Given the description of an element on the screen output the (x, y) to click on. 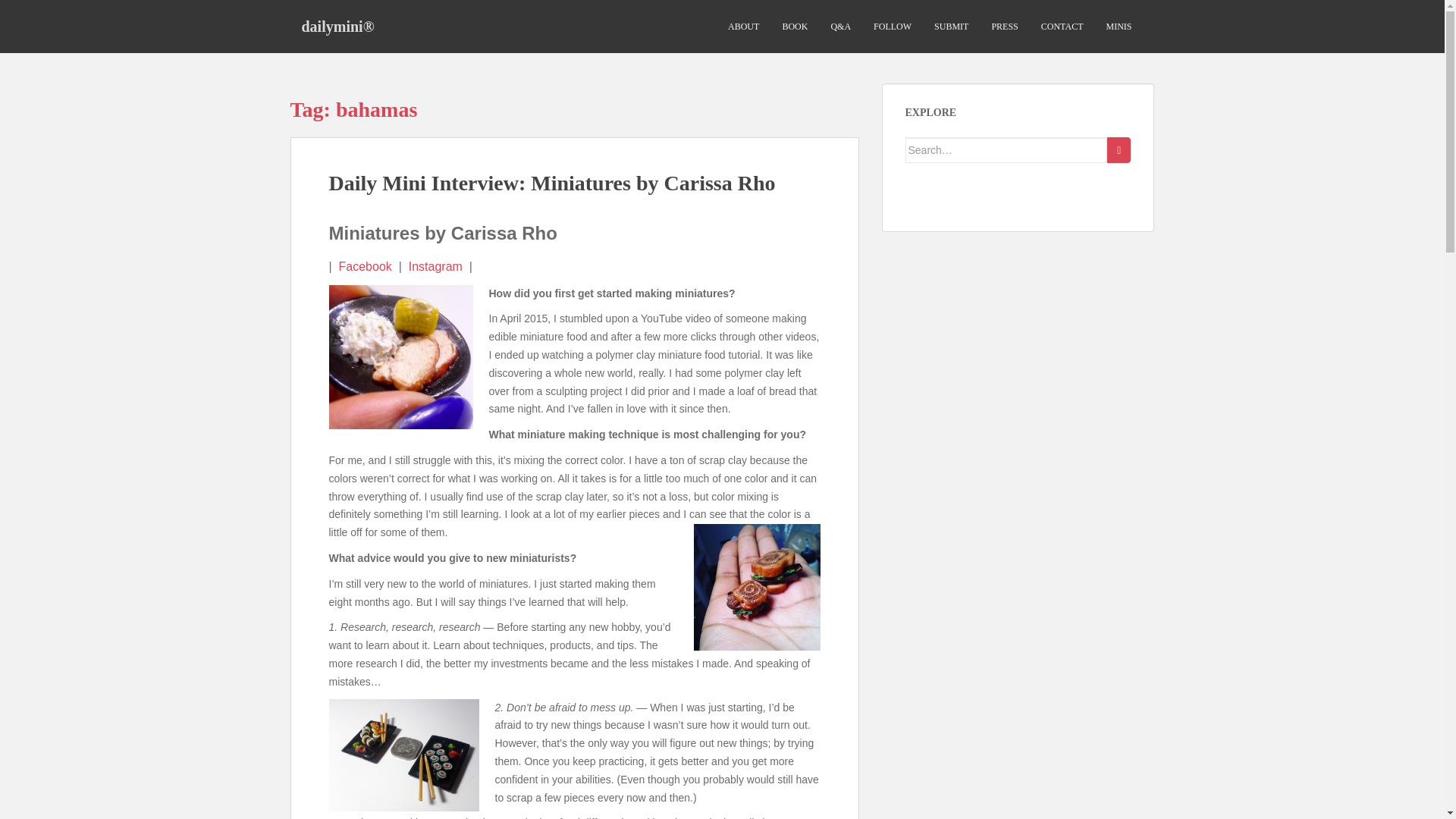
Facebook (365, 266)
ABOUT (743, 26)
FOLLOW (892, 26)
Search (1118, 149)
SUBMIT (951, 26)
CONTACT (1062, 26)
Instagram (436, 266)
Daily Mini Interview: Miniatures by Carissa Rho (552, 182)
Search for: (1006, 149)
